Given the description of an element on the screen output the (x, y) to click on. 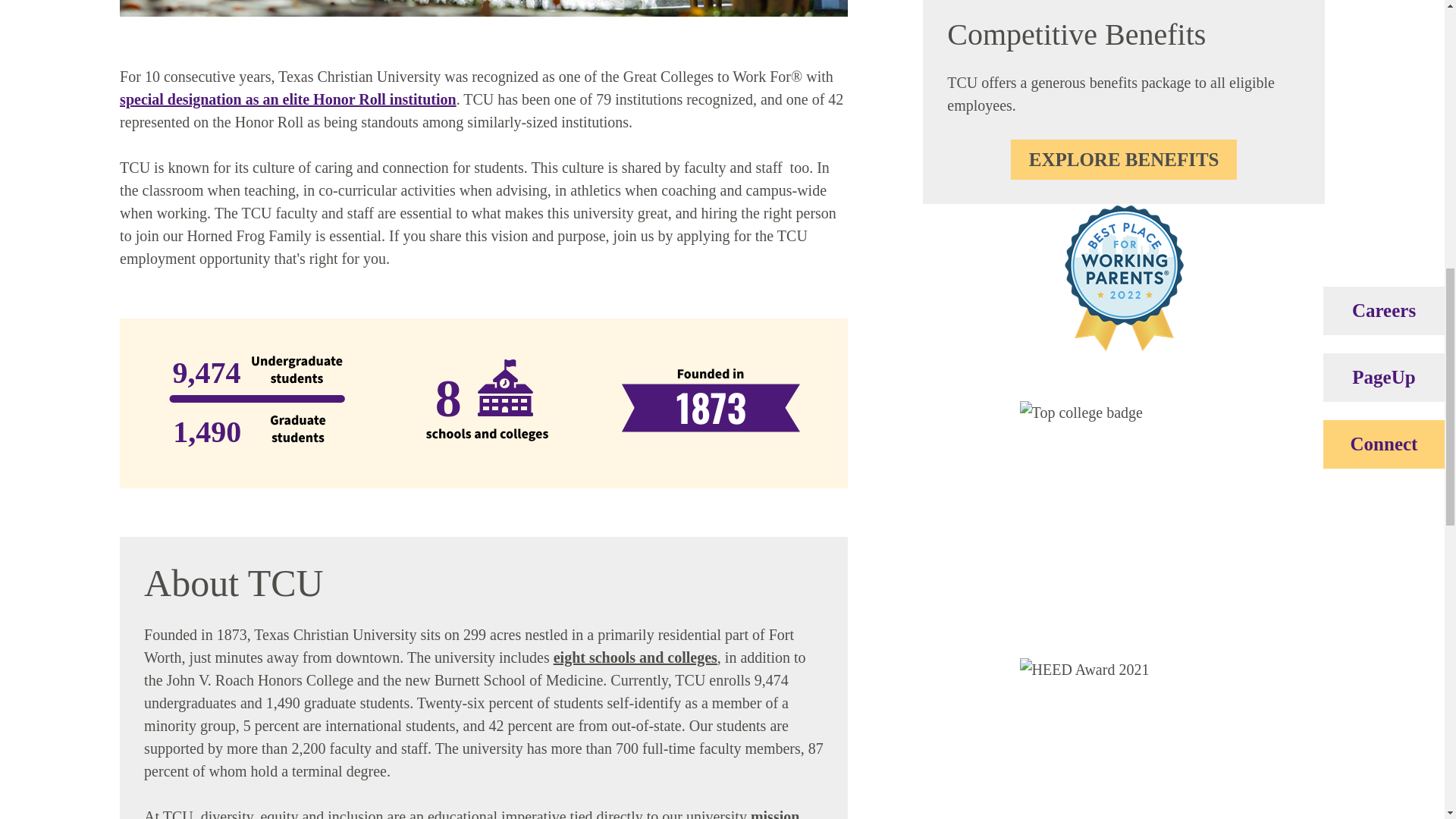
HEED Award 2021 (1124, 736)
